Given the description of an element on the screen output the (x, y) to click on. 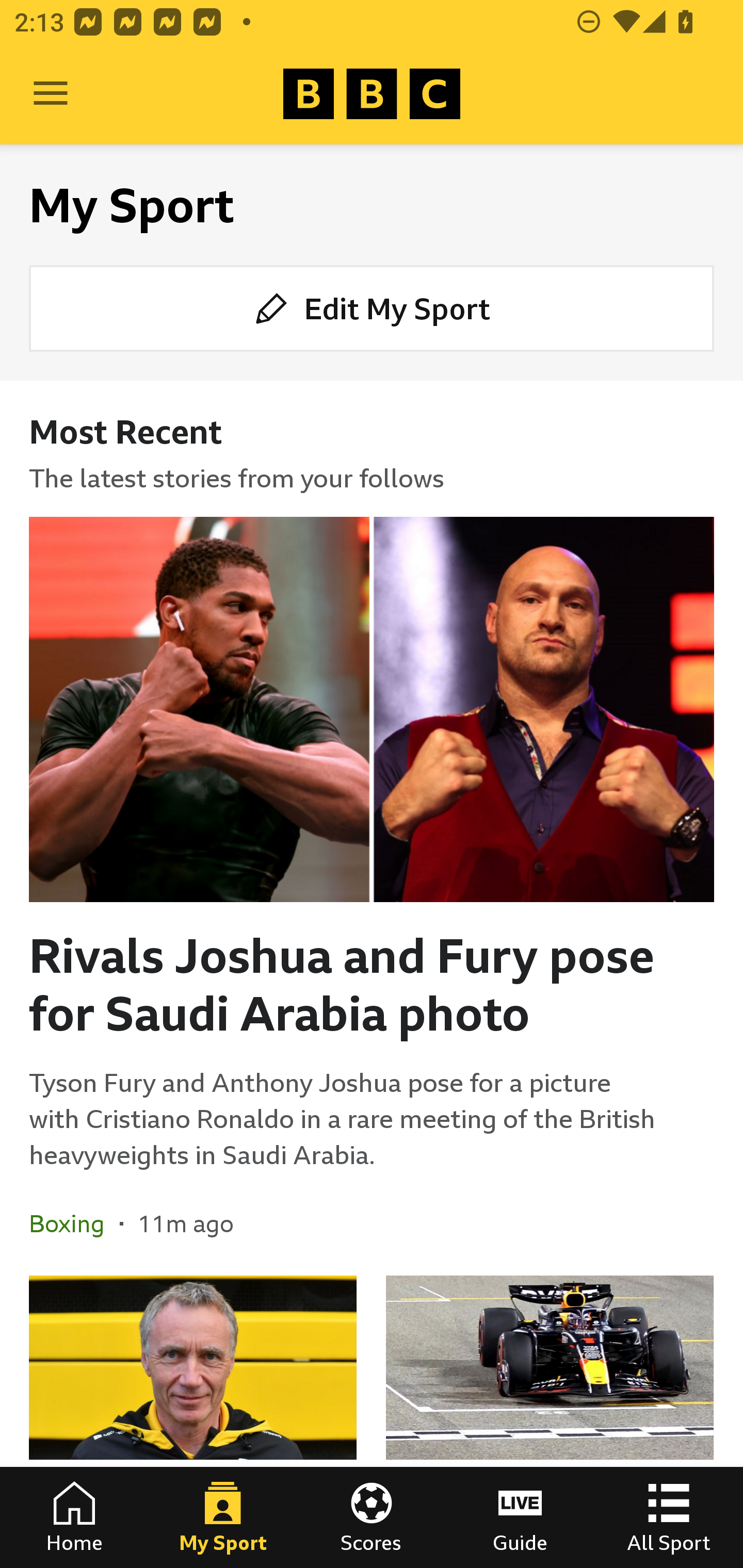
Open Menu (50, 93)
Edit My Sport (371, 307)
Engineer Bell leaves struggling Alpine (192, 1421)
Home (74, 1517)
Scores (371, 1517)
Guide (519, 1517)
All Sport (668, 1517)
